Given the description of an element on the screen output the (x, y) to click on. 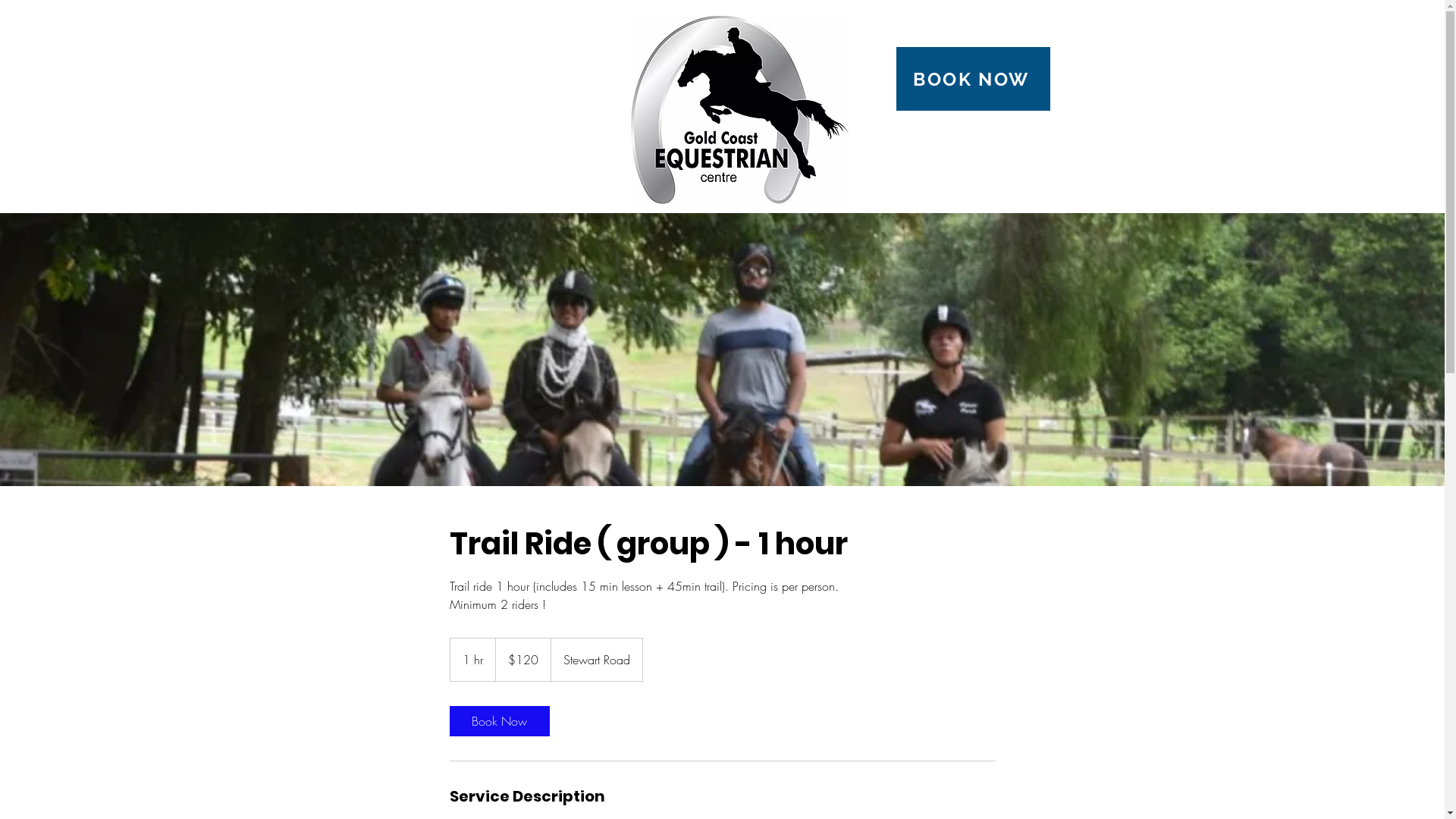
BOOK NOW Element type: text (973, 78)
Book Now Element type: text (498, 721)
